Given the description of an element on the screen output the (x, y) to click on. 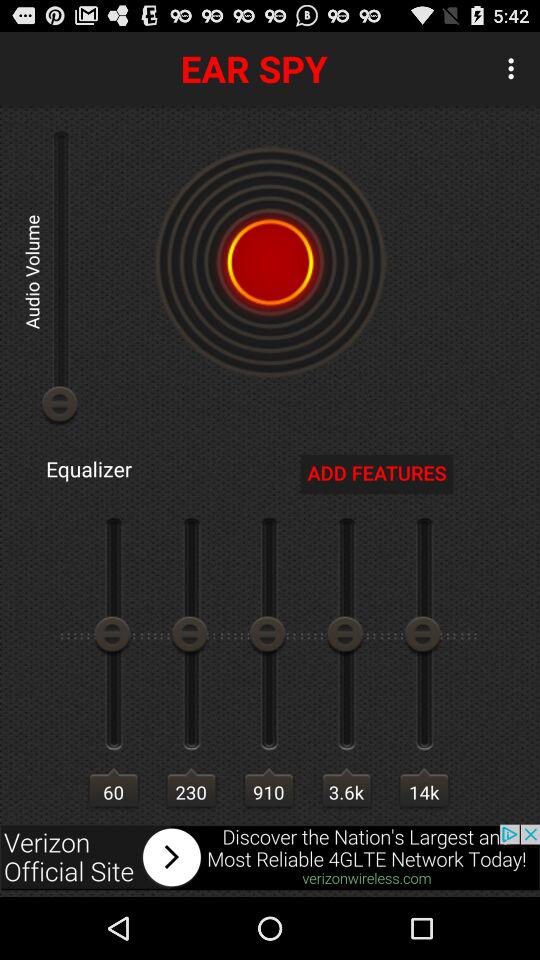
clickable verizon advertisement (270, 857)
